Given the description of an element on the screen output the (x, y) to click on. 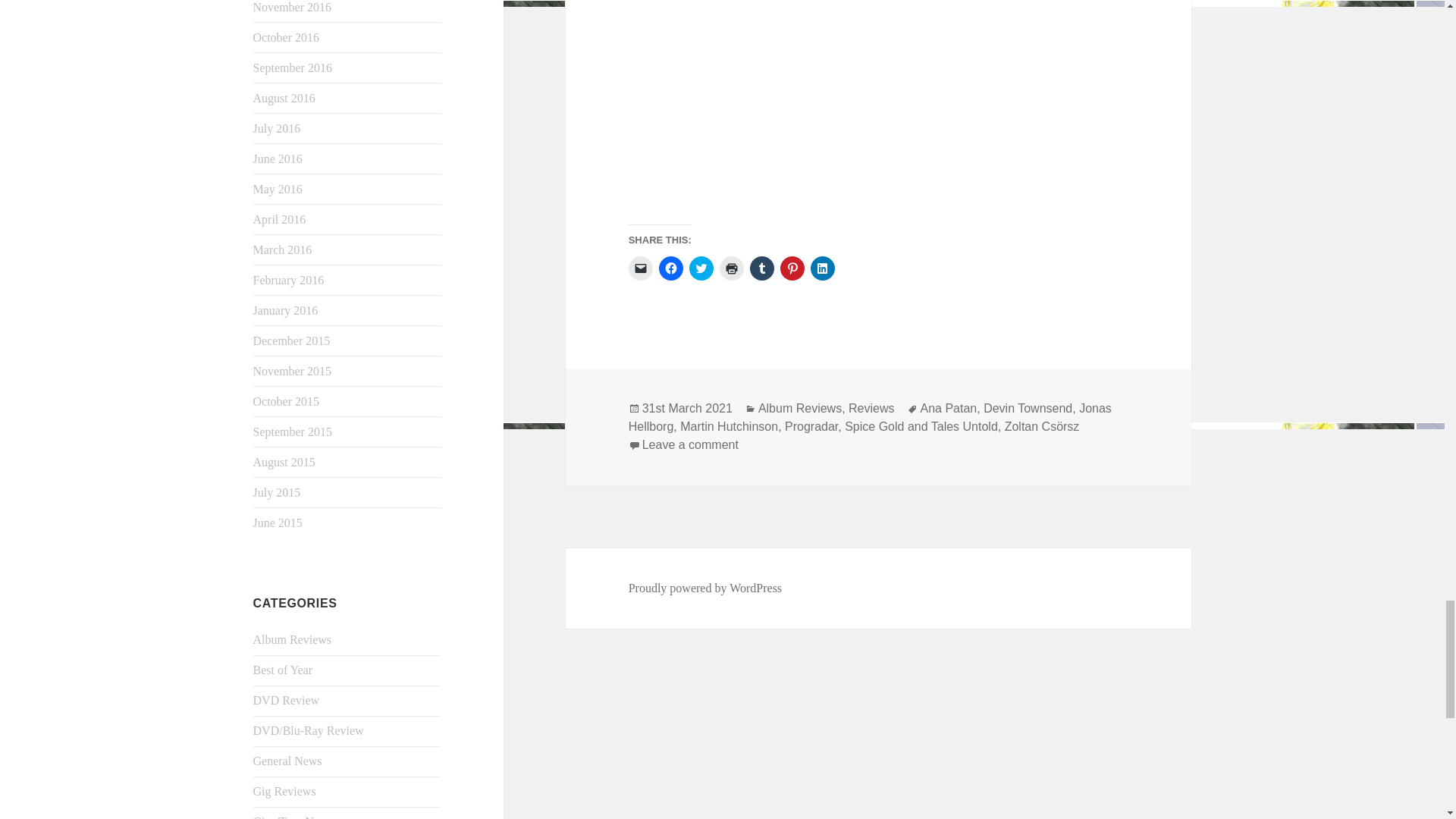
Click to share on Pinterest (792, 268)
Click to share on Facebook (670, 268)
Click to share on LinkedIn (822, 268)
Click to print (731, 268)
Click to share on Tumblr (761, 268)
Click to share on Twitter (700, 268)
Click to email a link to a friend (640, 268)
